Given the description of an element on the screen output the (x, y) to click on. 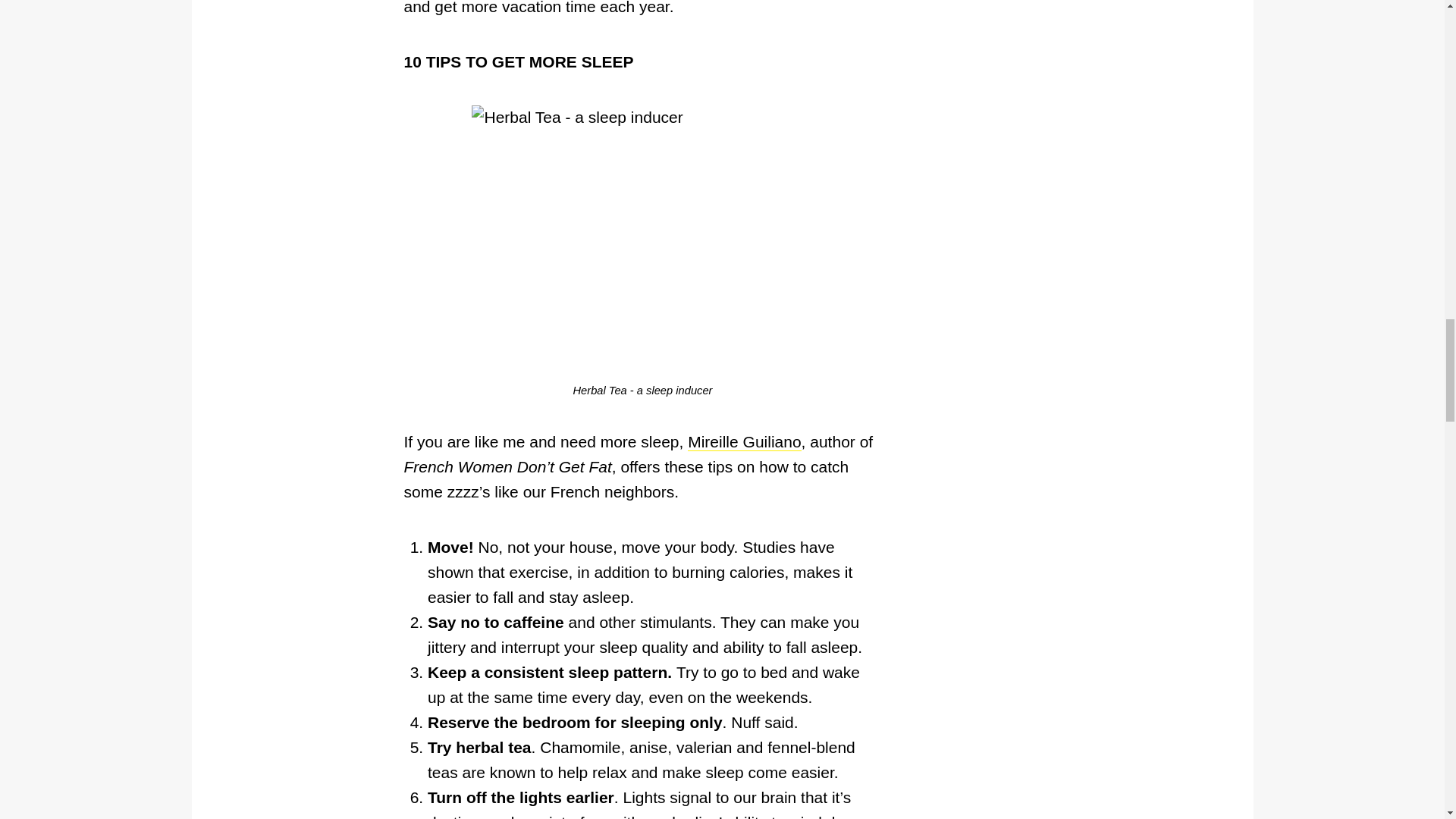
Mireille Guiliano (743, 442)
Better Sleep Tips (743, 442)
